Given the description of an element on the screen output the (x, y) to click on. 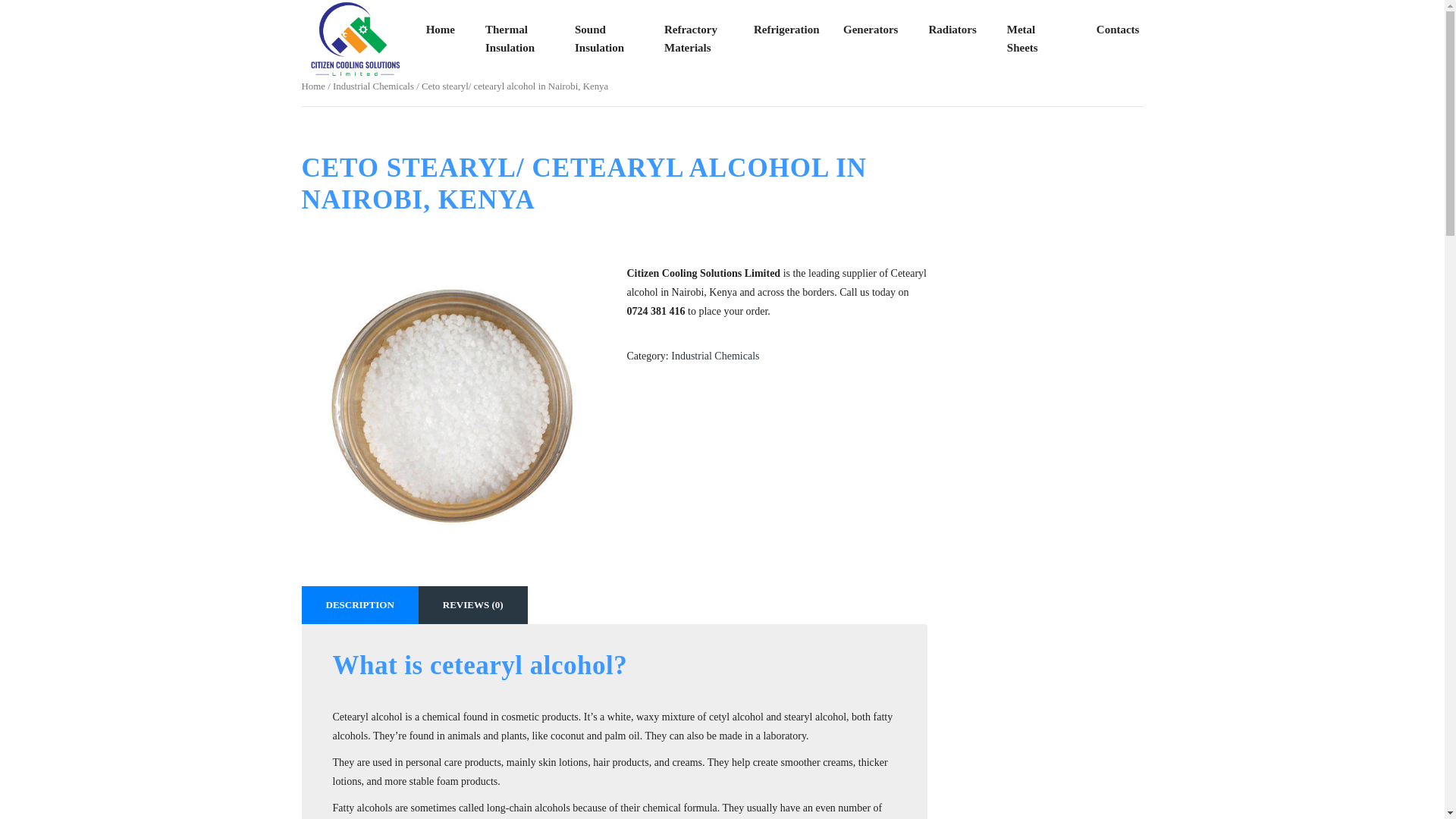
Contacts (1117, 30)
Refrigeration (783, 30)
Sound Insulation (604, 39)
Thermal Insulation (514, 39)
Refractory Materials (693, 39)
Home (312, 86)
Radiators (951, 30)
Generators (870, 30)
cetostearyl-alcohol-powder-500x500 (451, 405)
DESCRIPTION (360, 605)
Industrial Chemicals (714, 355)
Industrial Chemicals (373, 86)
Metal Sheets (1036, 39)
Home (440, 30)
